Given the description of an element on the screen output the (x, y) to click on. 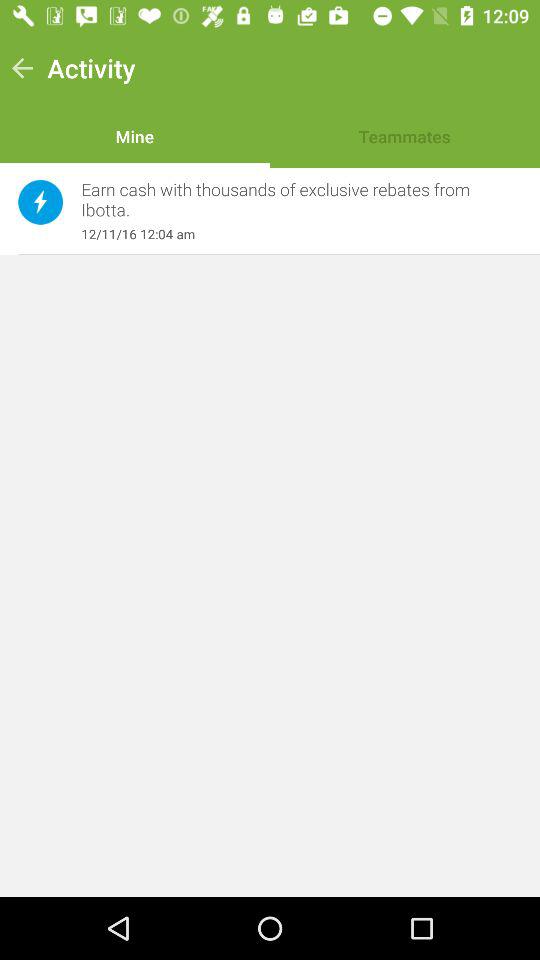
turn off the item next to earn cash with item (40, 202)
